Given the description of an element on the screen output the (x, y) to click on. 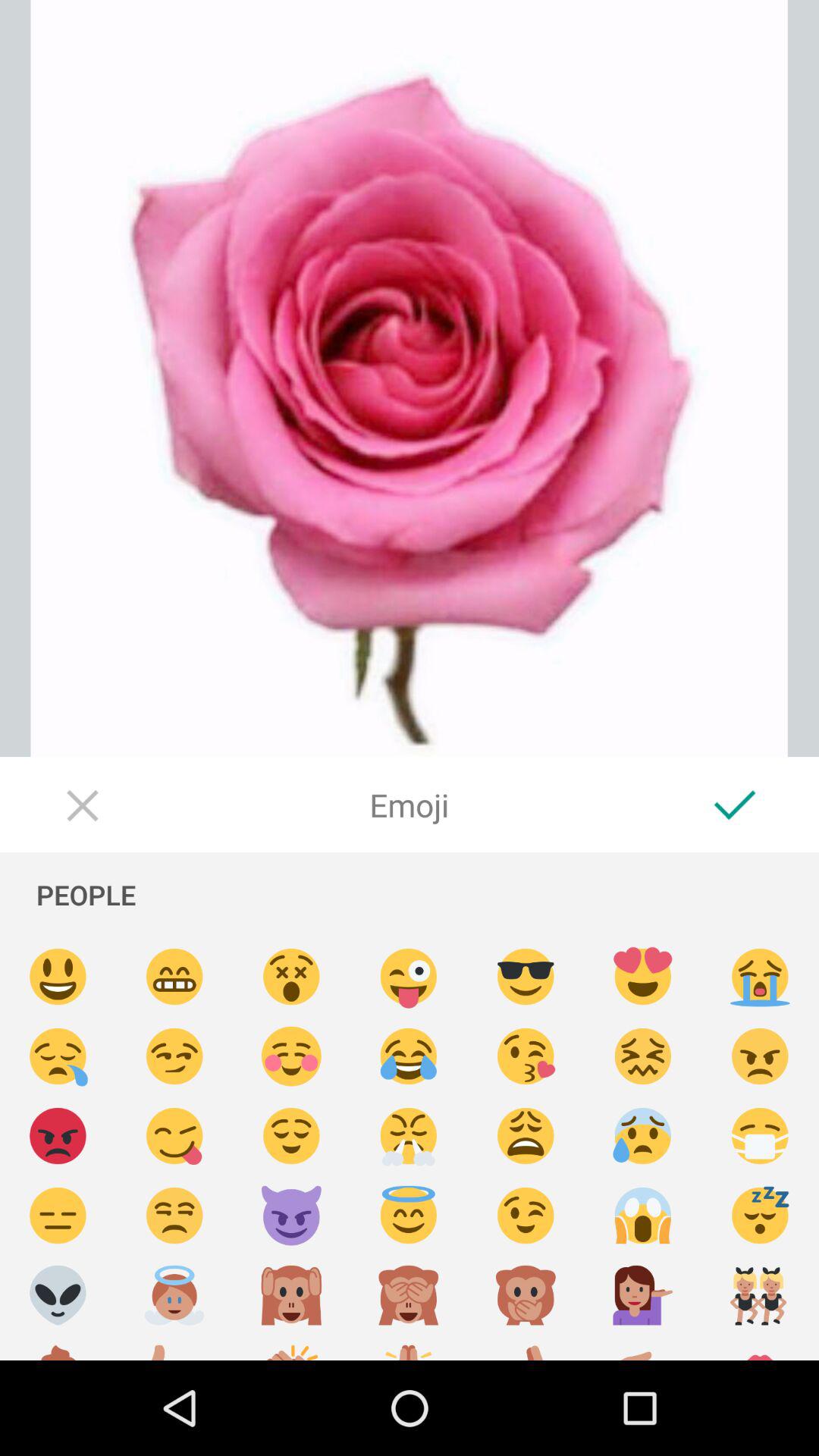
insert smiling emoji (58, 976)
